Given the description of an element on the screen output the (x, y) to click on. 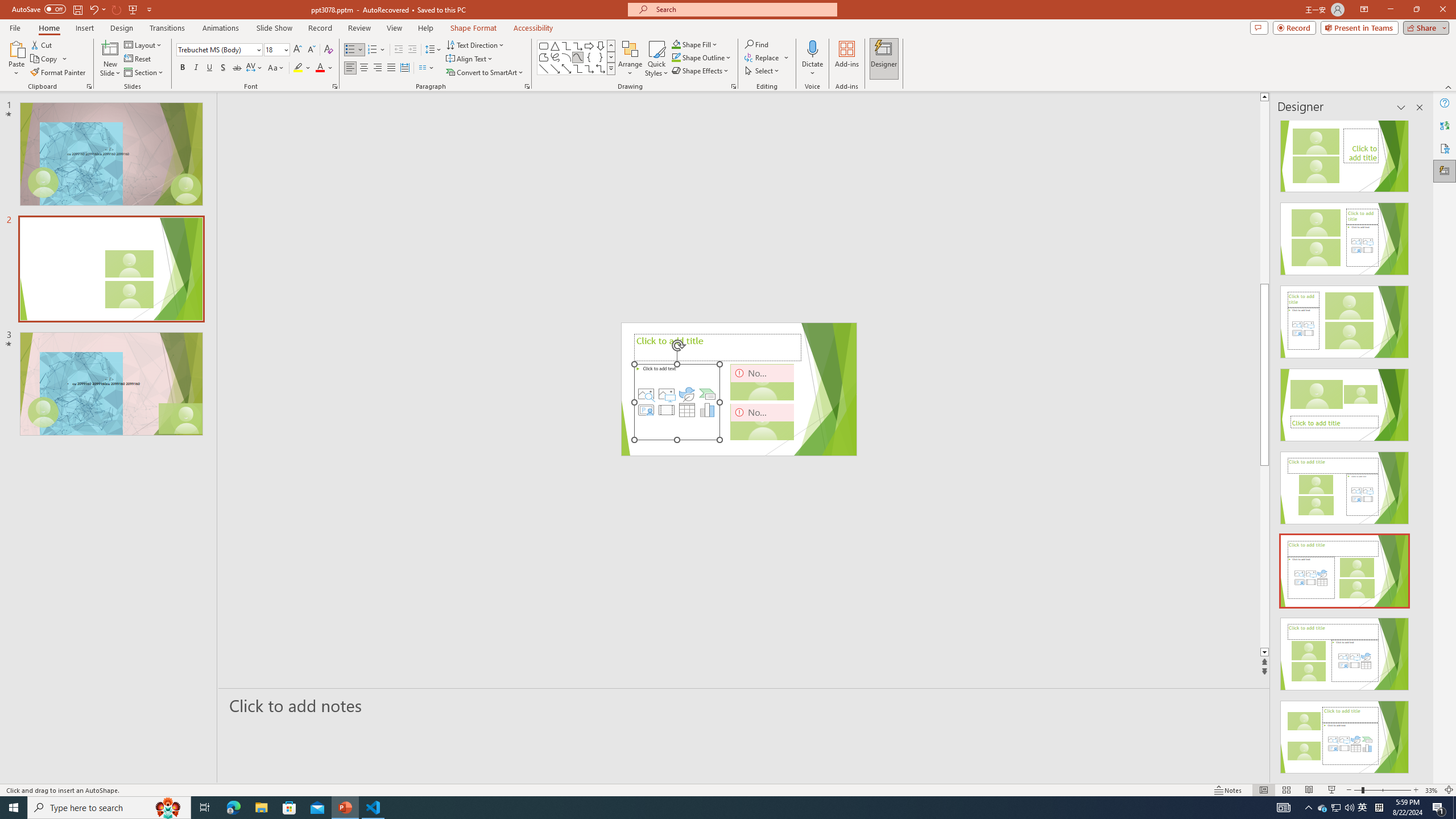
Insert Cameo (646, 409)
Zoom 33% (1431, 790)
